Given the description of an element on the screen output the (x, y) to click on. 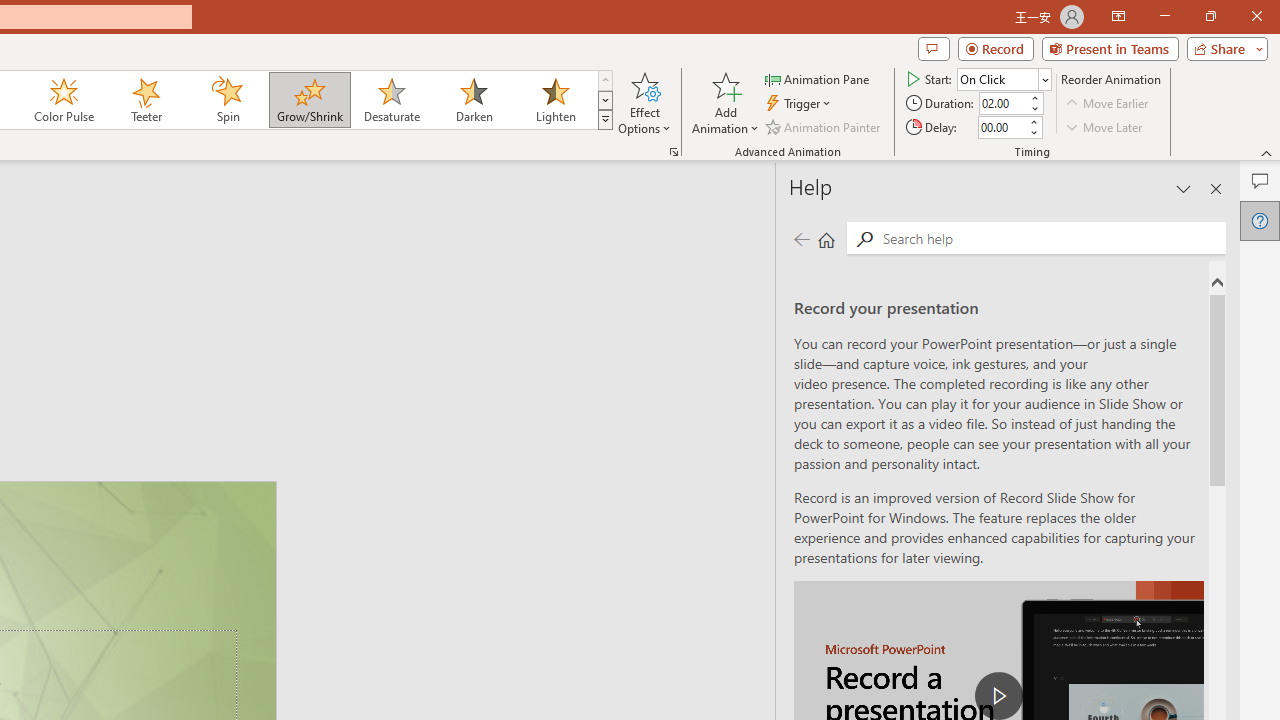
Lighten (555, 100)
Animation Duration (1003, 103)
Spin (227, 100)
Move Earlier (1107, 103)
Color Pulse (63, 100)
Add Animation (725, 102)
